Given the description of an element on the screen output the (x, y) to click on. 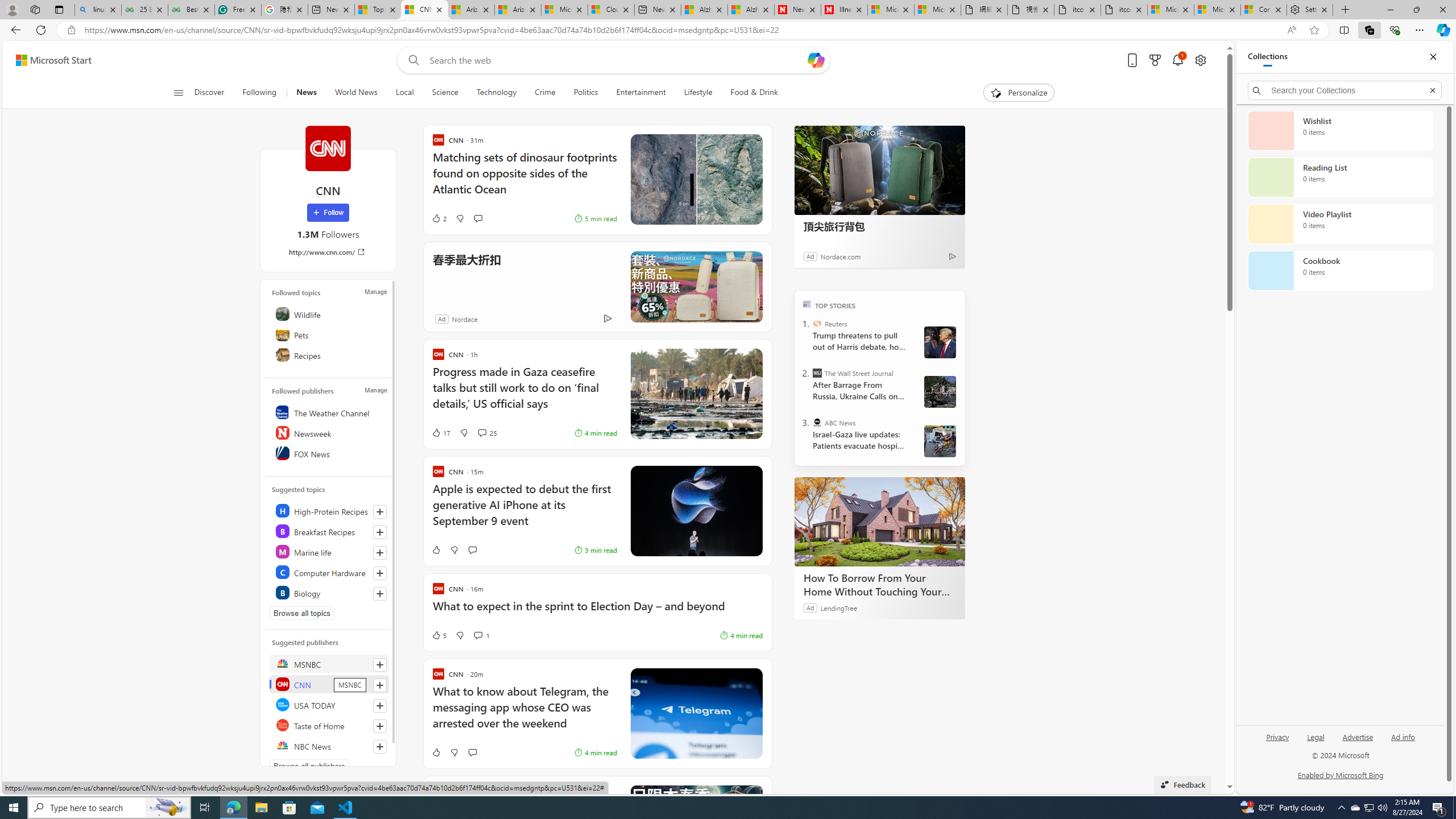
CNN (328, 683)
View comments 25 Comment (481, 432)
